Given the description of an element on the screen output the (x, y) to click on. 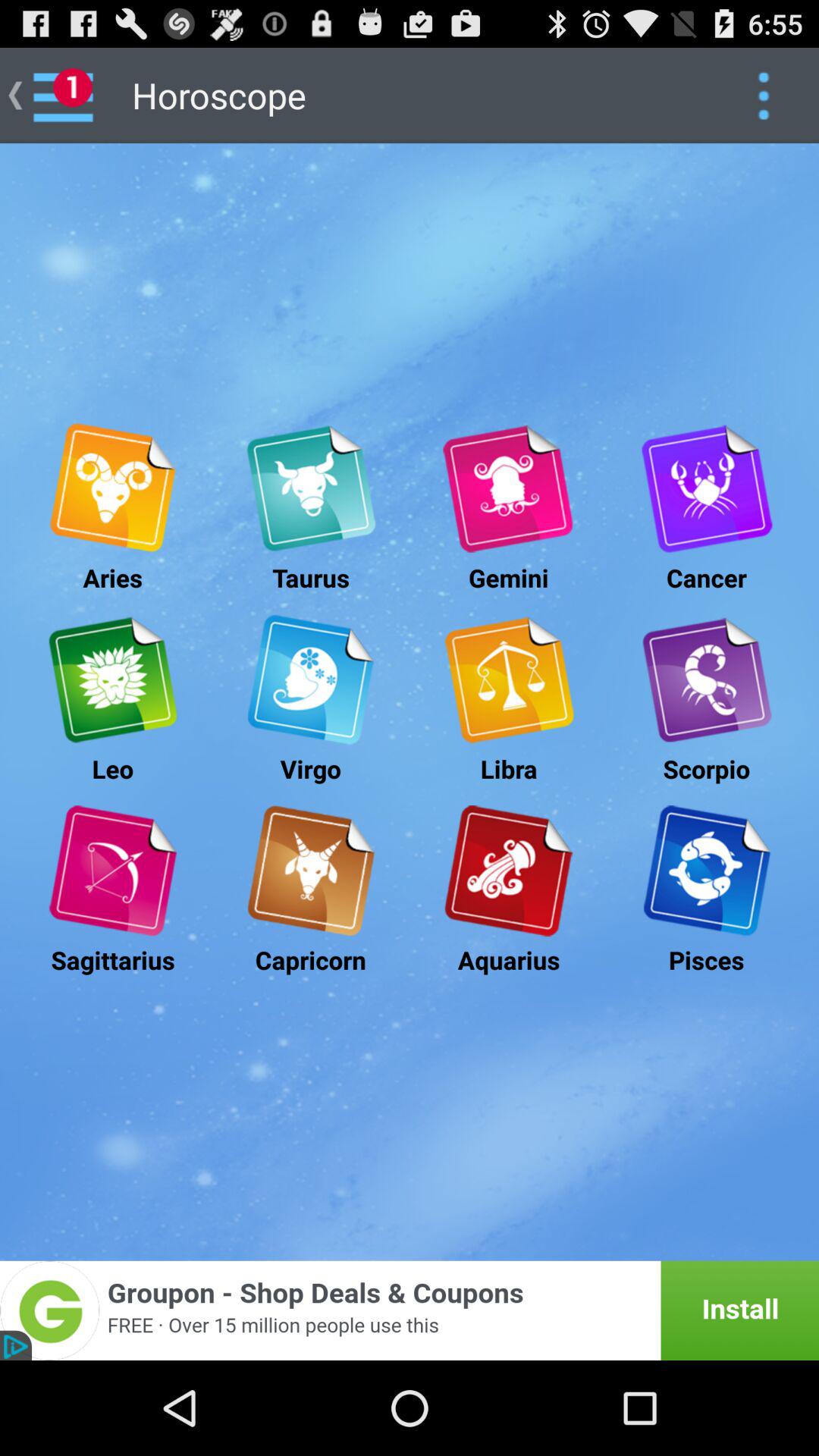
select leo (112, 679)
